Given the description of an element on the screen output the (x, y) to click on. 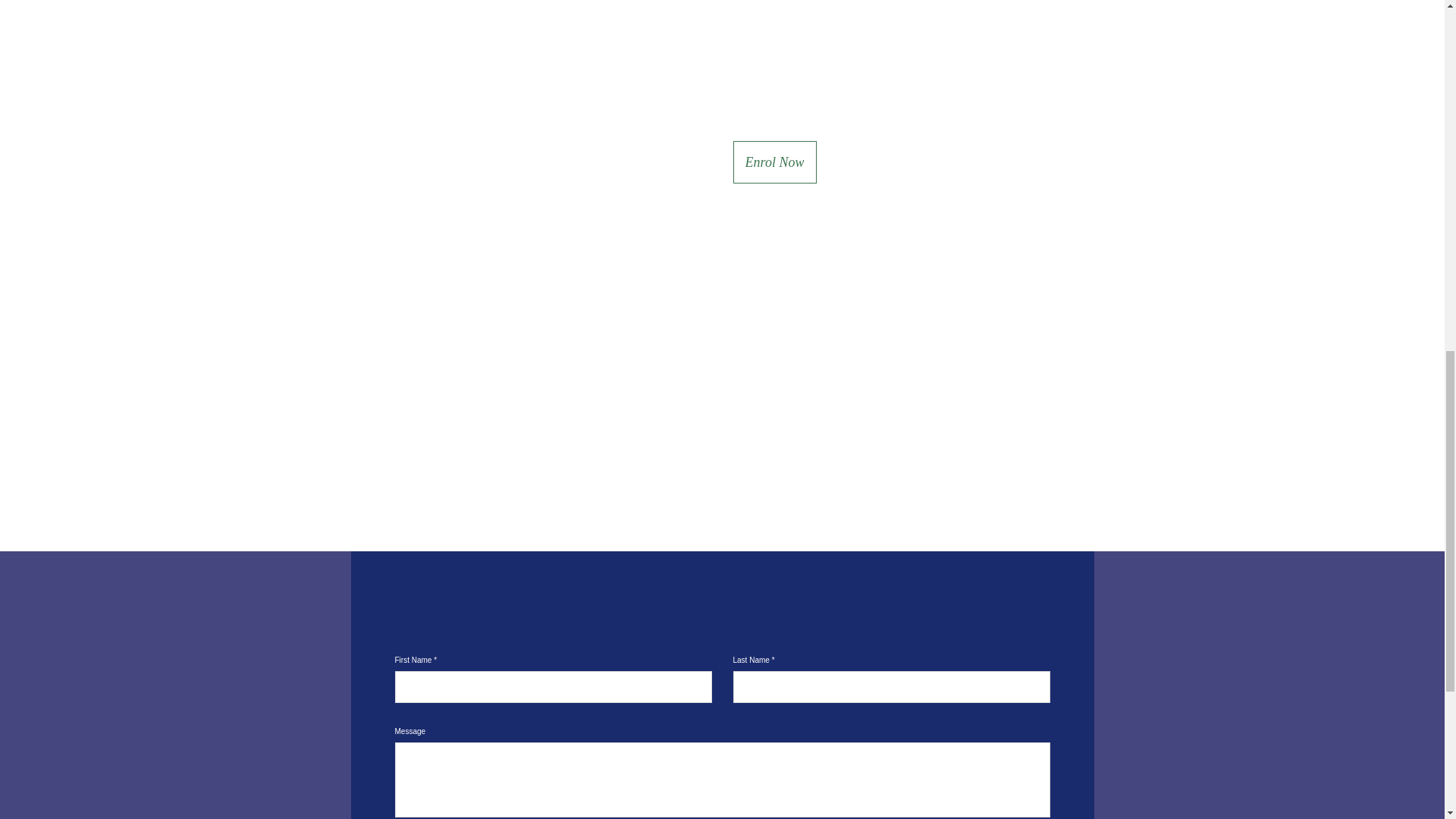
Enrol Now (773, 161)
